Given the description of an element on the screen output the (x, y) to click on. 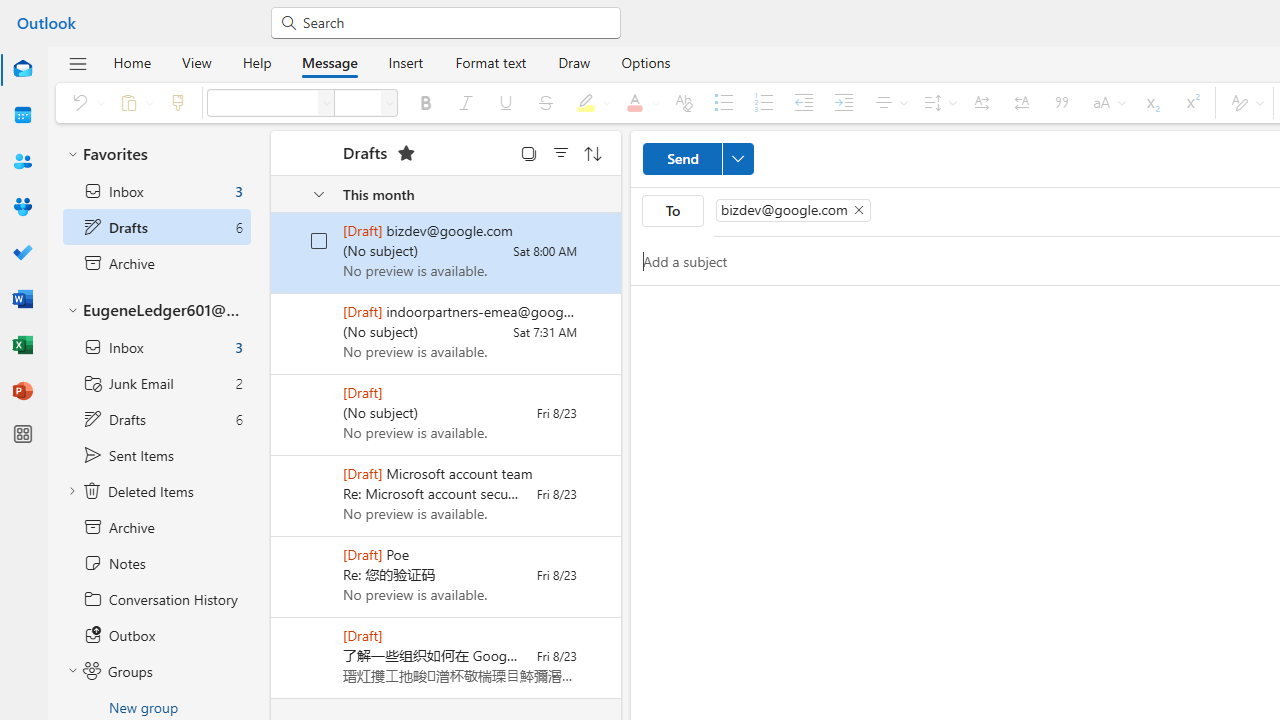
Options (645, 61)
Sent Items (156, 455)
Home (132, 61)
More apps (22, 434)
Font size (389, 102)
 [Draft] (No subject) Fri 8/23 No preview is available. (445, 415)
Unfavoriting removes the category from your folder pane (406, 152)
AutomationID: checkbox-1772 (319, 240)
Select (529, 152)
Left-to-right (982, 102)
Font (262, 102)
Decrease indent (803, 102)
Mark as unread (273, 657)
Text highlight color (589, 102)
Help (256, 61)
